Given the description of an element on the screen output the (x, y) to click on. 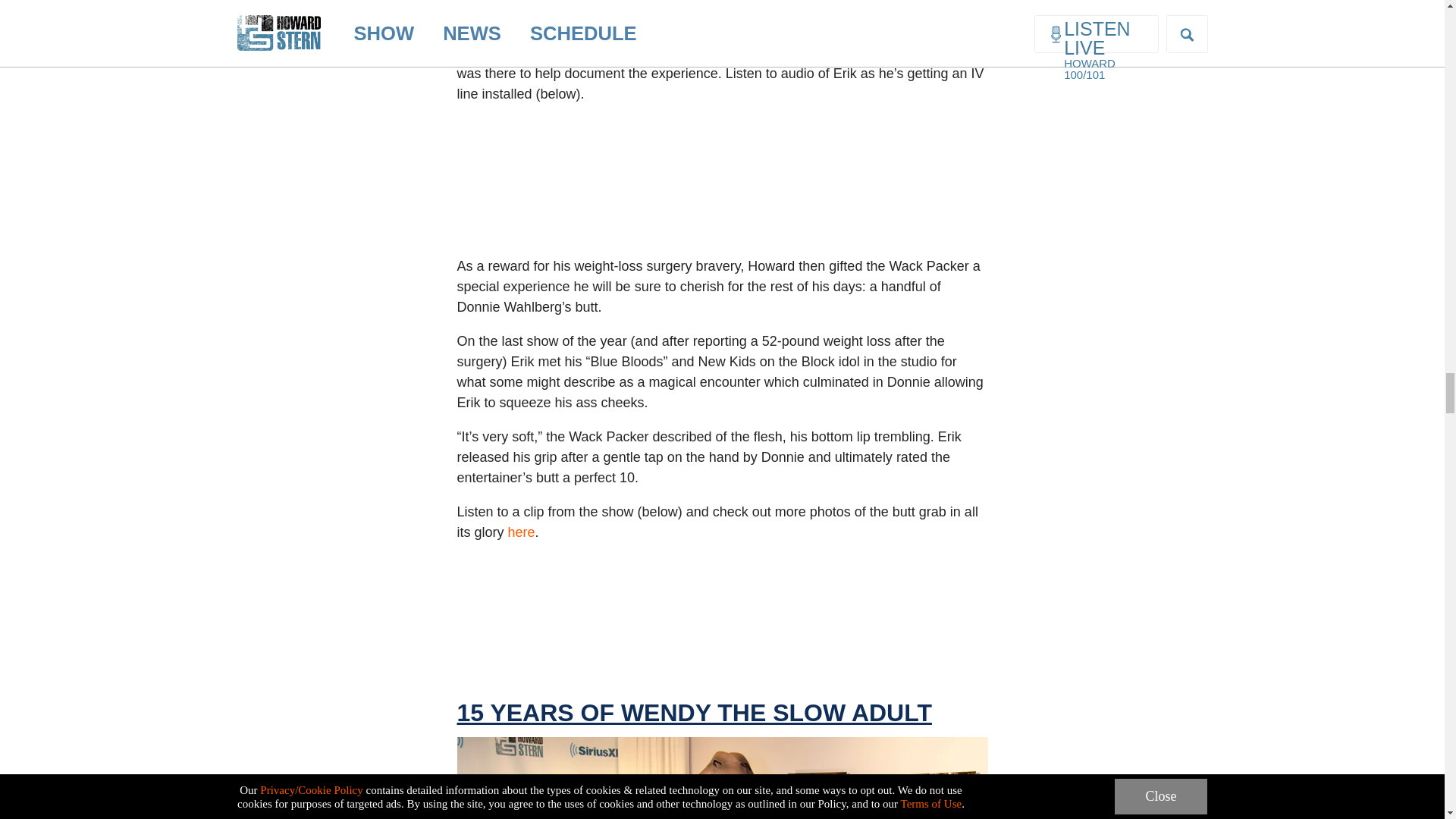
here (521, 531)
